Given the description of an element on the screen output the (x, y) to click on. 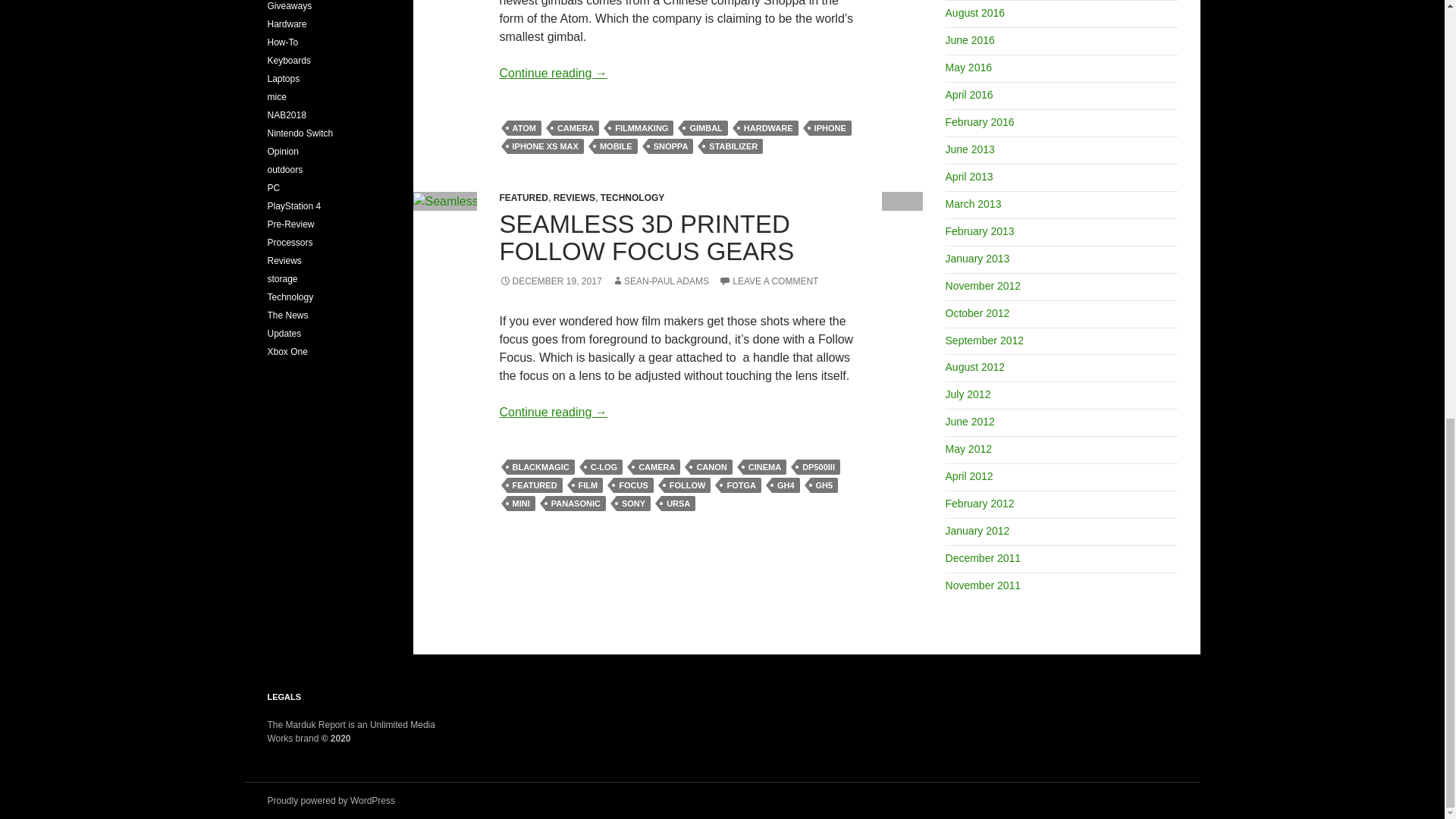
SNOPPA (670, 145)
IPHONE (830, 127)
ATOM (523, 127)
HARDWARE (767, 127)
CAMERA (574, 127)
FILMMAKING (641, 127)
GIMBAL (705, 127)
SEAN-PAUL ADAMS (660, 281)
REVIEWS (574, 197)
LEAVE A COMMENT (768, 281)
